Given the description of an element on the screen output the (x, y) to click on. 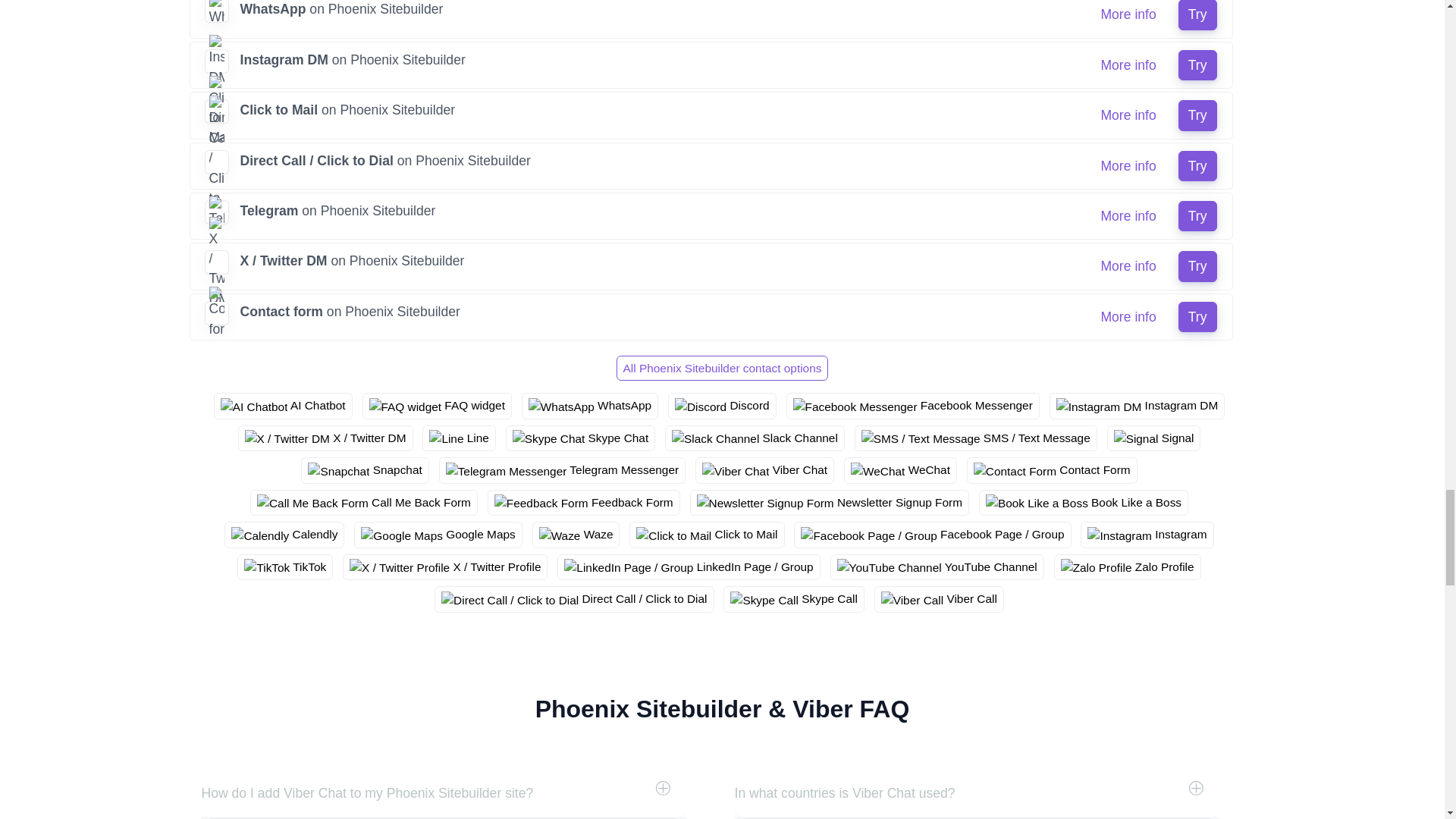
Try (1197, 64)
More info (1128, 14)
Try (1197, 14)
More info (1128, 114)
Try (1197, 165)
Try (1197, 114)
More info (1128, 165)
More info (1128, 64)
